Given the description of an element on the screen output the (x, y) to click on. 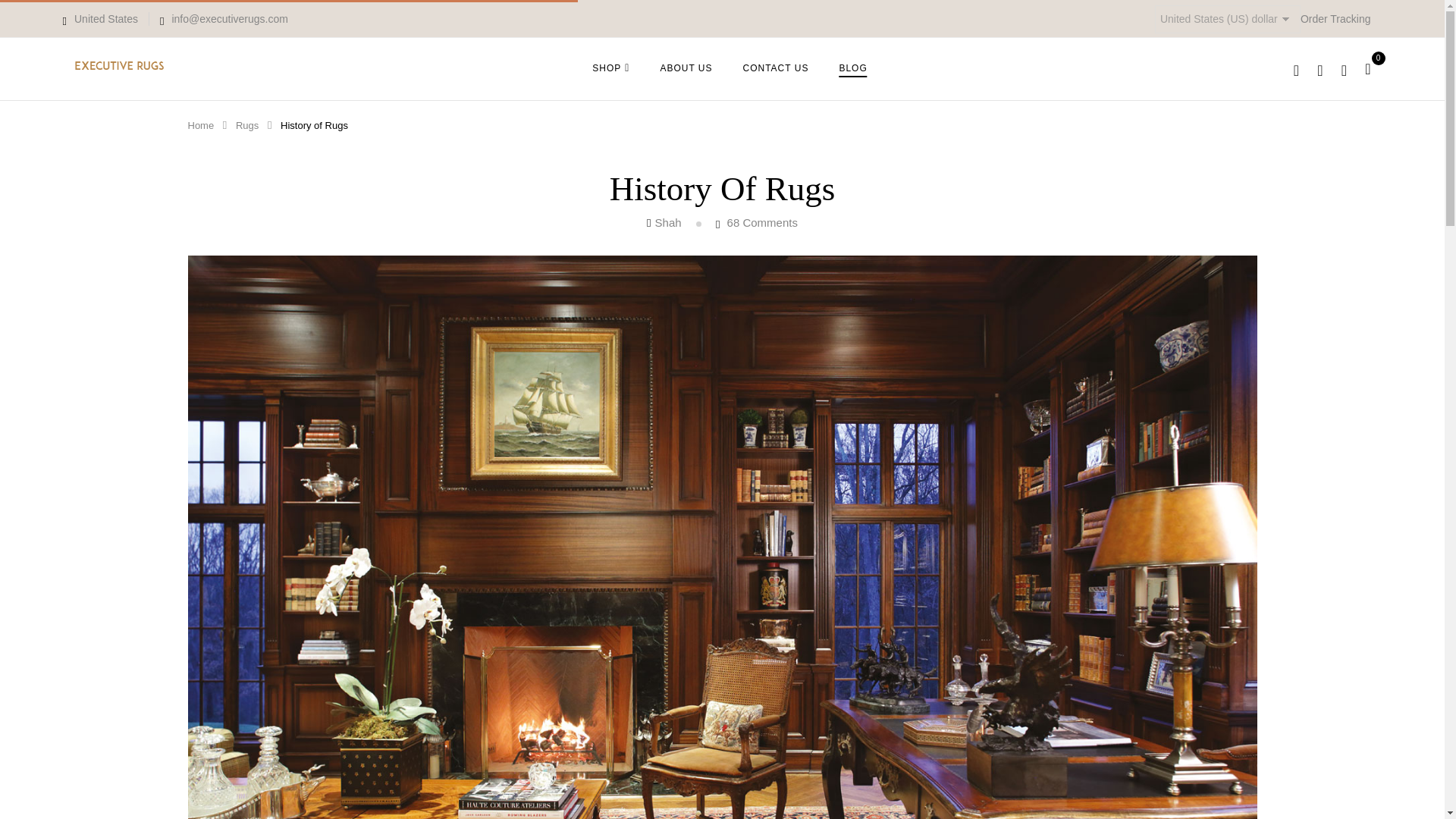
Shah (668, 222)
Order Tracking (1335, 19)
United States (100, 19)
Rugs (247, 125)
ABOUT US (685, 67)
68 Comments (761, 222)
SHOP (610, 67)
BLOG (852, 67)
CONTACT US (775, 67)
Home (200, 125)
